Given the description of an element on the screen output the (x, y) to click on. 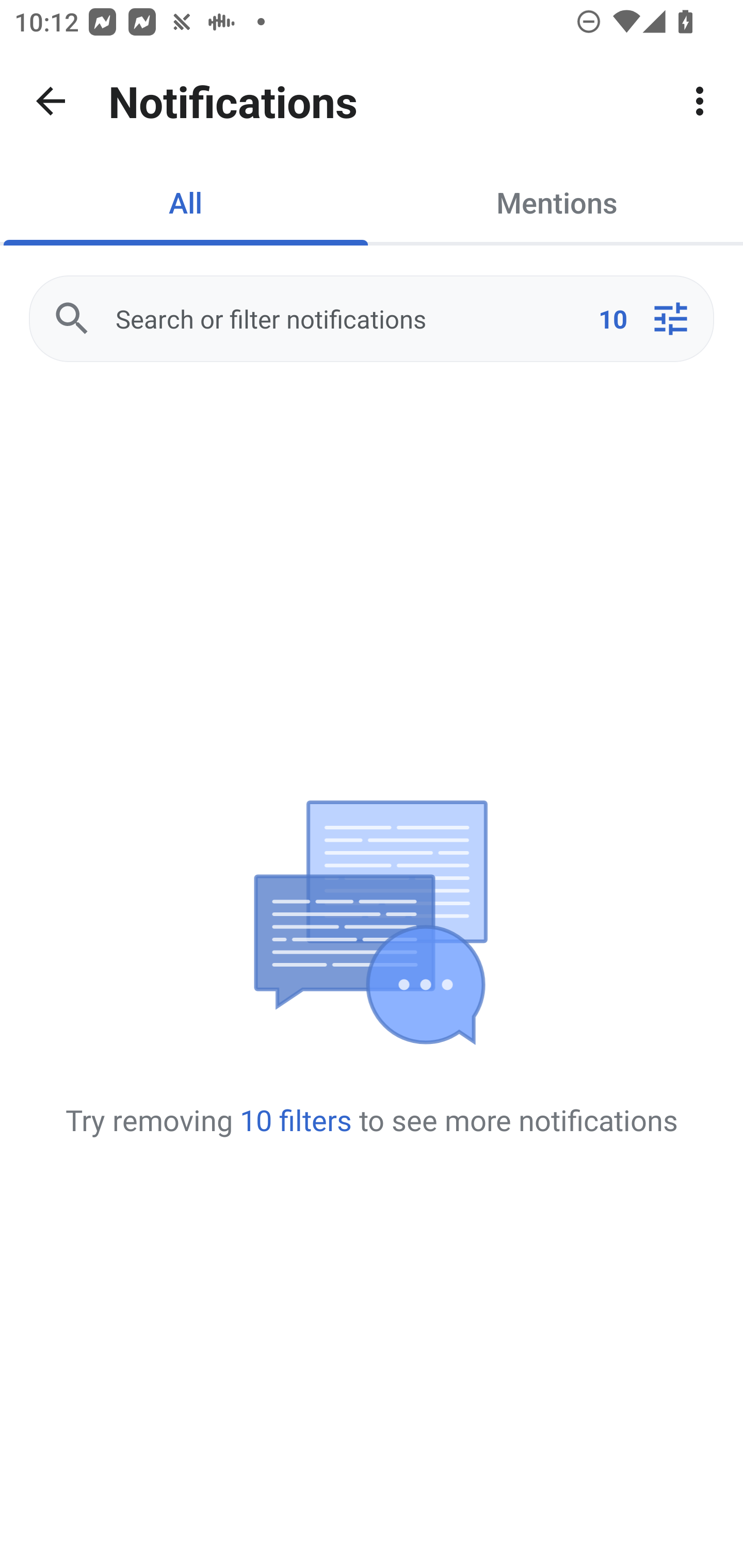
Navigate up (50, 101)
More (699, 101)
Mentions (557, 202)
Notification filter (670, 318)
